Given the description of an element on the screen output the (x, y) to click on. 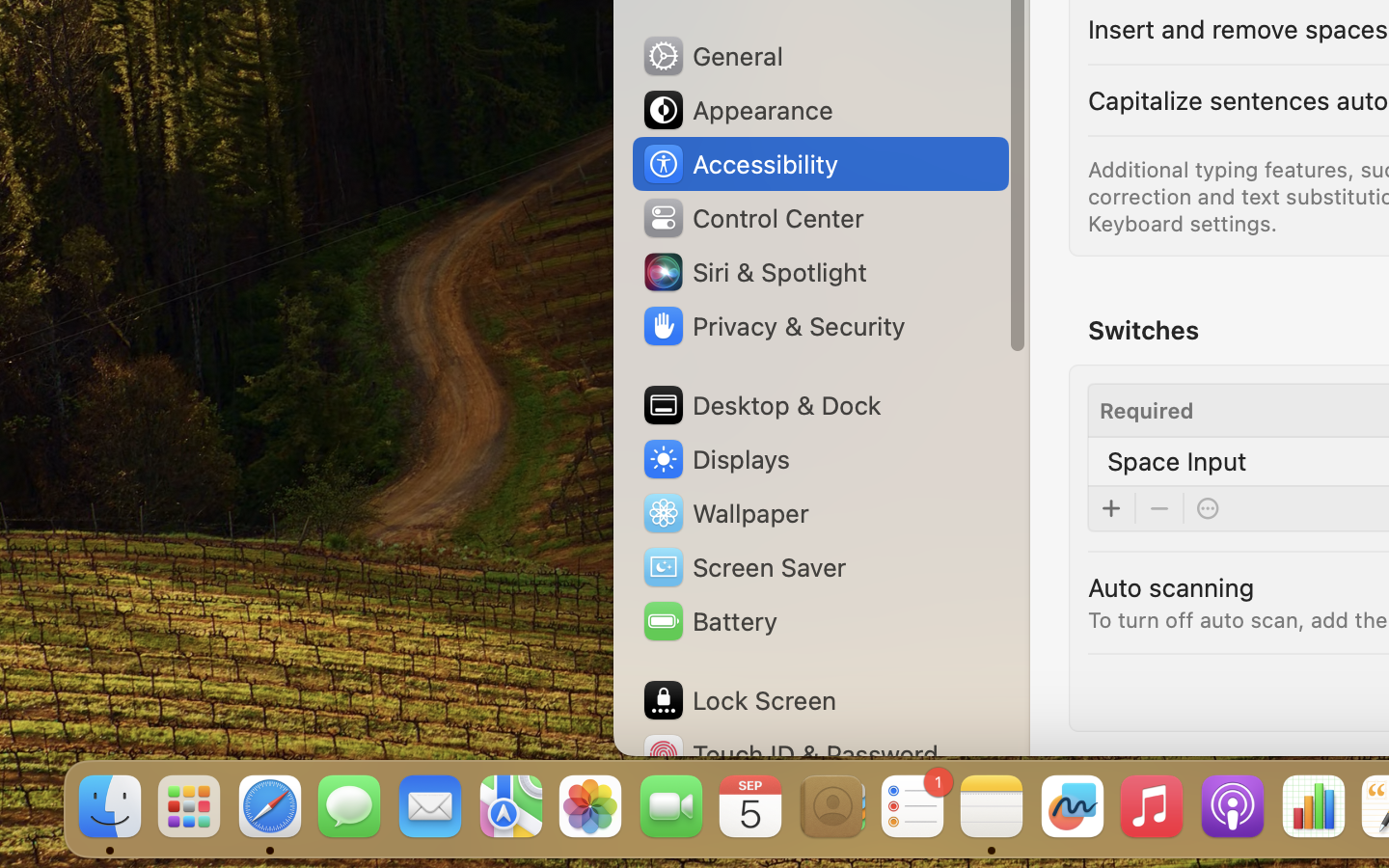
Touch ID & Password Element type: AXStaticText (789, 754)
Control Center Element type: AXStaticText (752, 217)
Wallpaper Element type: AXStaticText (724, 512)
Lock Screen Element type: AXStaticText (738, 700)
Displays Element type: AXStaticText (715, 458)
